Given the description of an element on the screen output the (x, y) to click on. 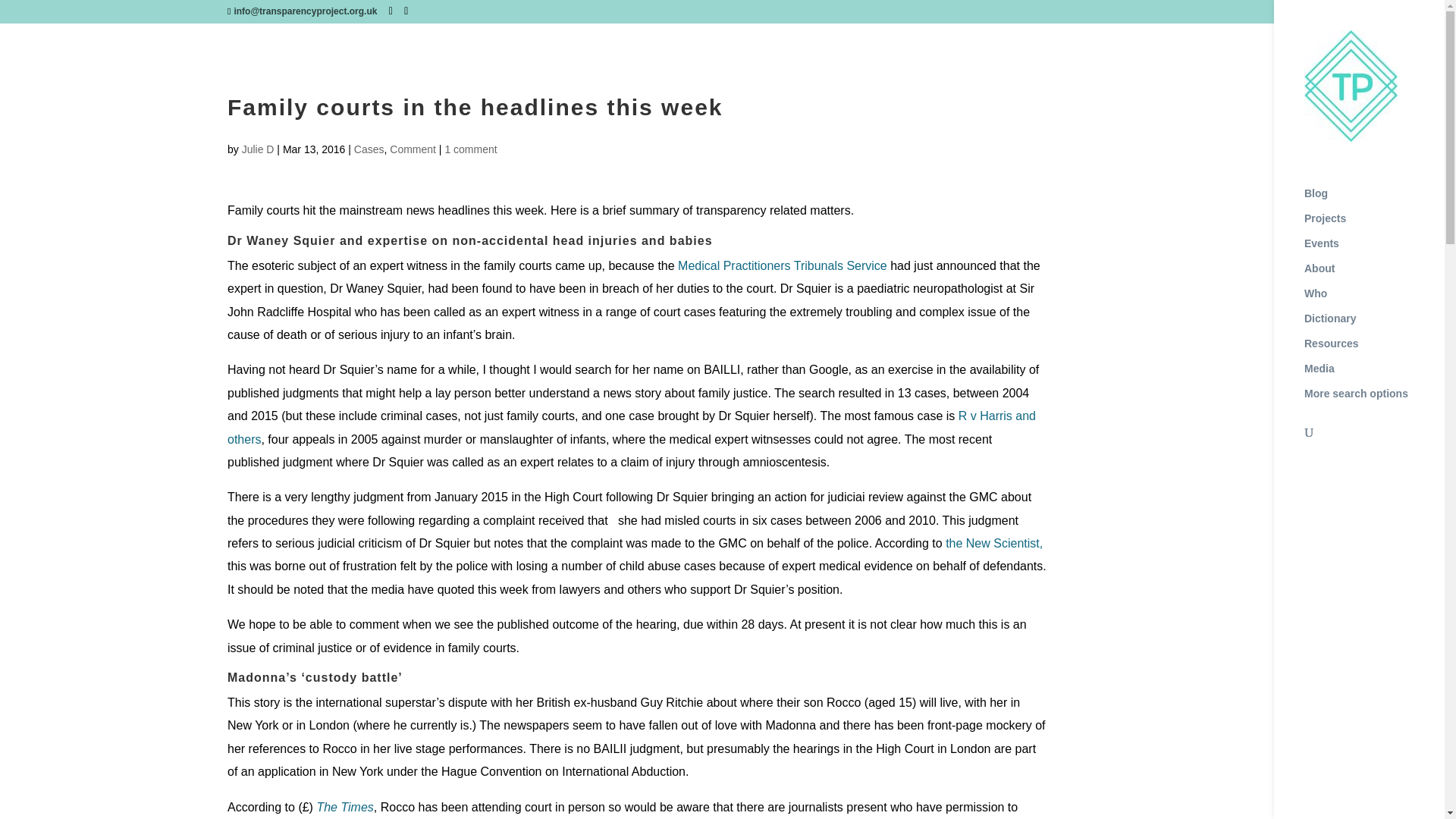
Cases (368, 149)
R v Harris and others (631, 427)
Posts by Julie D (258, 149)
Julie D (258, 149)
Comment (412, 149)
Medical Practitioners Tribunals Service (782, 265)
The Times (343, 807)
the New Scientist, (993, 543)
1 comment (470, 149)
